Given the description of an element on the screen output the (x, y) to click on. 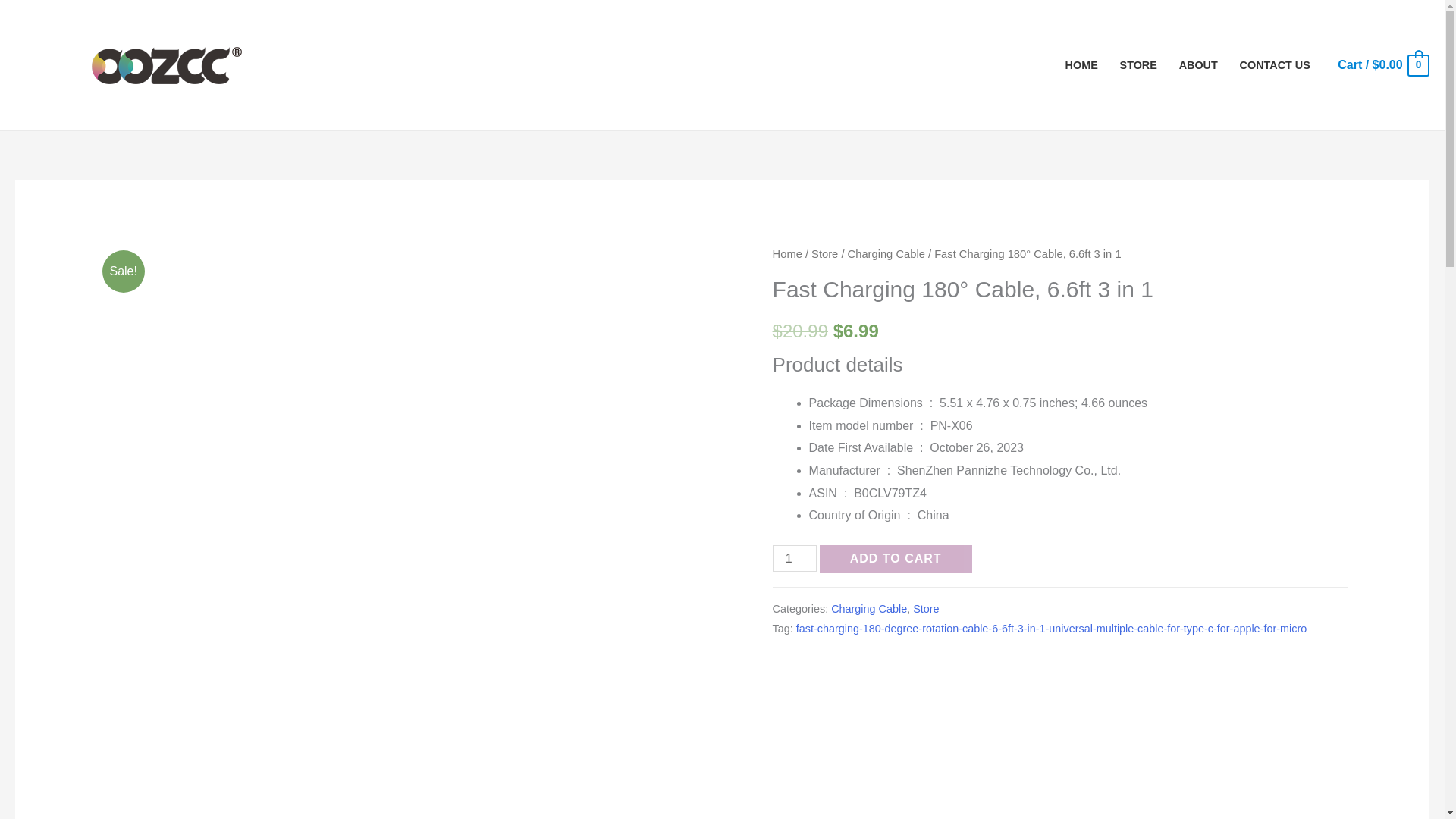
ABOUT (1197, 64)
Home (787, 254)
ADD TO CART (895, 558)
STORE (1137, 64)
1 (794, 558)
Charging Cable (885, 254)
View your shopping cart (1382, 64)
Store (824, 254)
Store (925, 608)
